Given the description of an element on the screen output the (x, y) to click on. 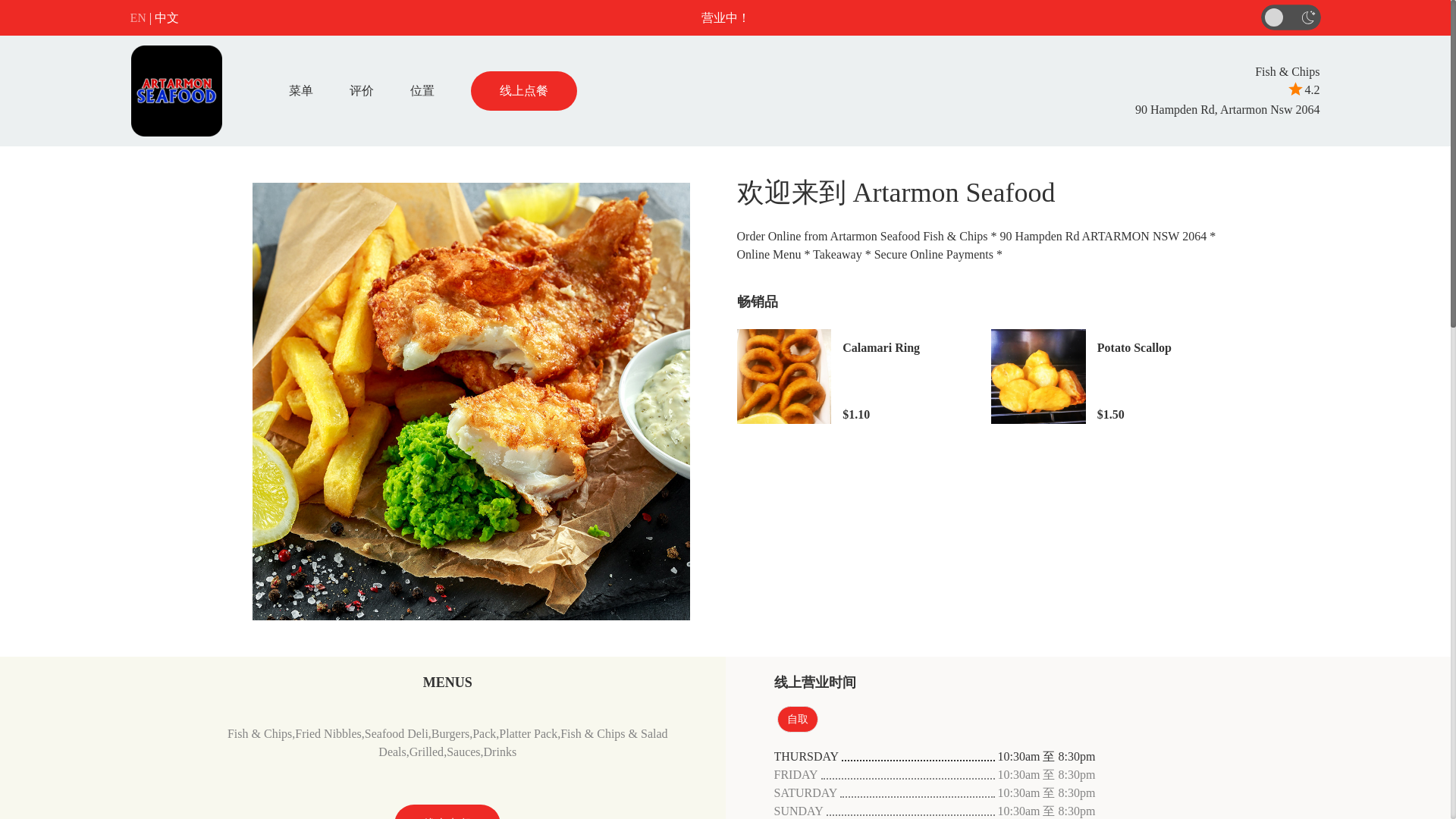
Platter Pack (528, 733)
Fried Nibbles (328, 733)
4.2 (1303, 89)
Seafood Deli (396, 733)
Burgers (449, 733)
EN (139, 16)
Sauces (463, 751)
Grilled (426, 751)
Pack (483, 733)
Drinks (499, 751)
